Given the description of an element on the screen output the (x, y) to click on. 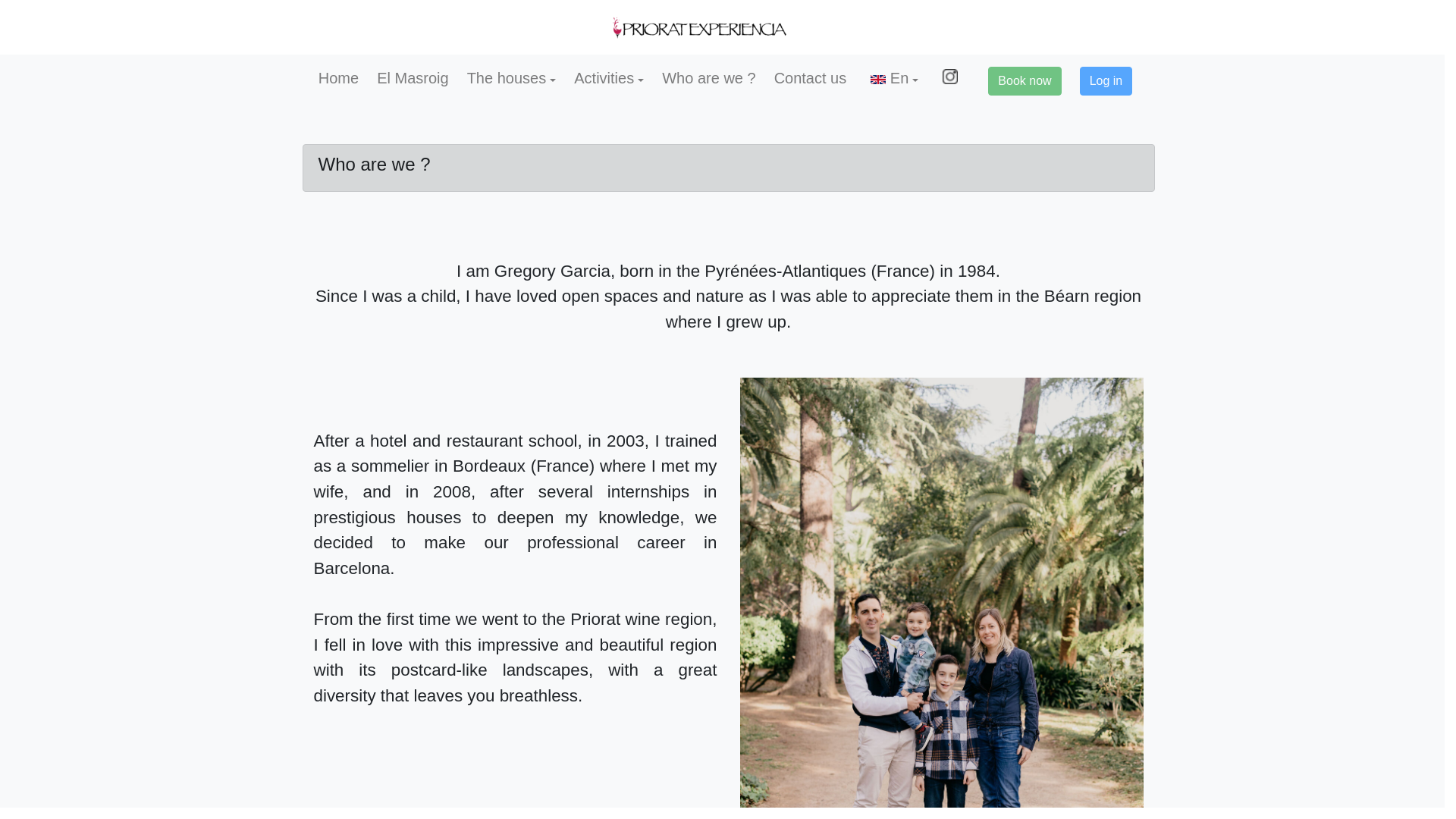
Home (339, 77)
Book now (1024, 80)
Activities (608, 77)
Contact us (810, 77)
Log in (1106, 80)
Log in (1106, 80)
The houses (511, 77)
El Masroig (412, 77)
Who are we ? (708, 77)
Book now (1024, 80)
